Given the description of an element on the screen output the (x, y) to click on. 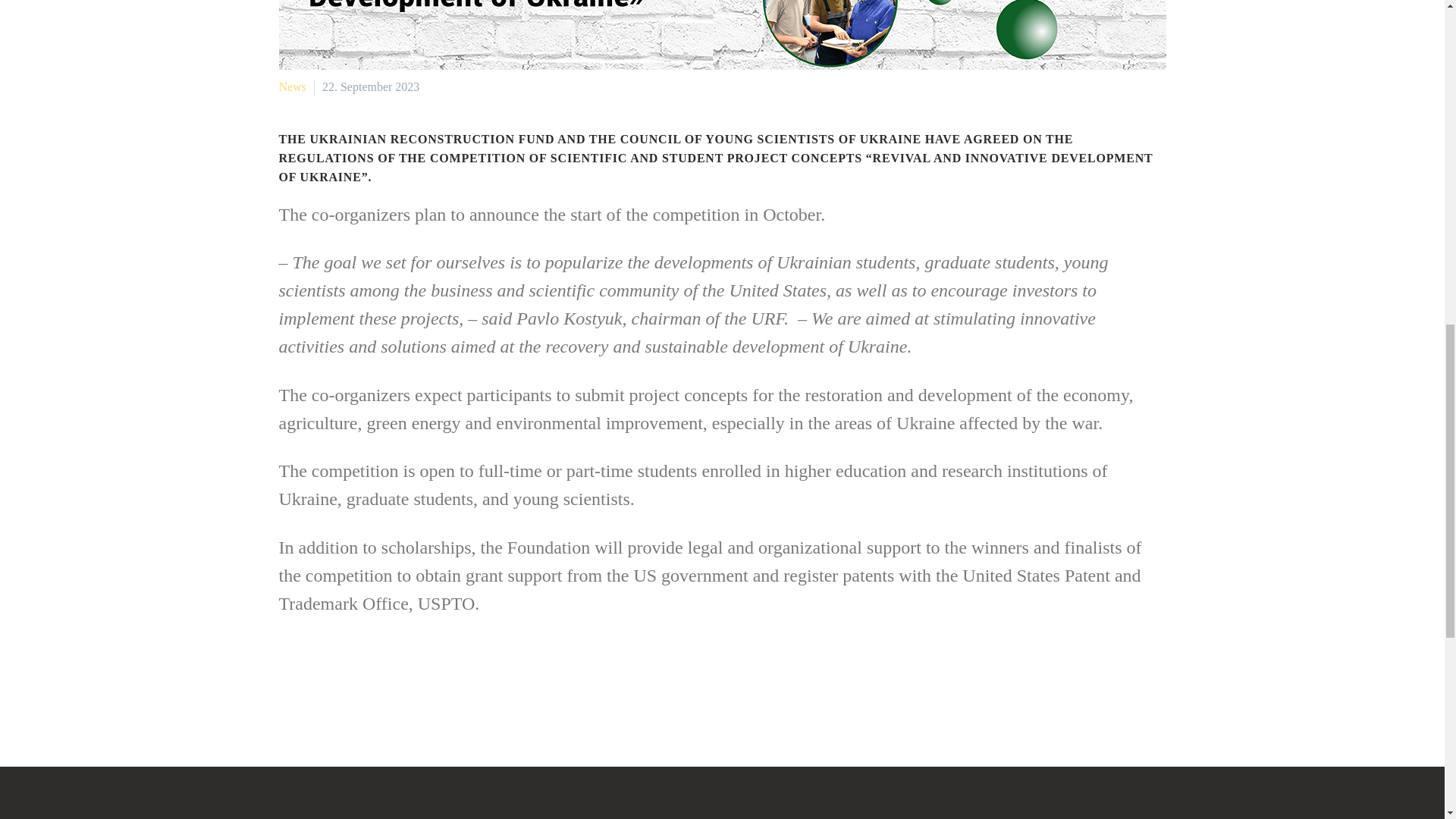
View all posts in News (292, 86)
News (292, 86)
